Given the description of an element on the screen output the (x, y) to click on. 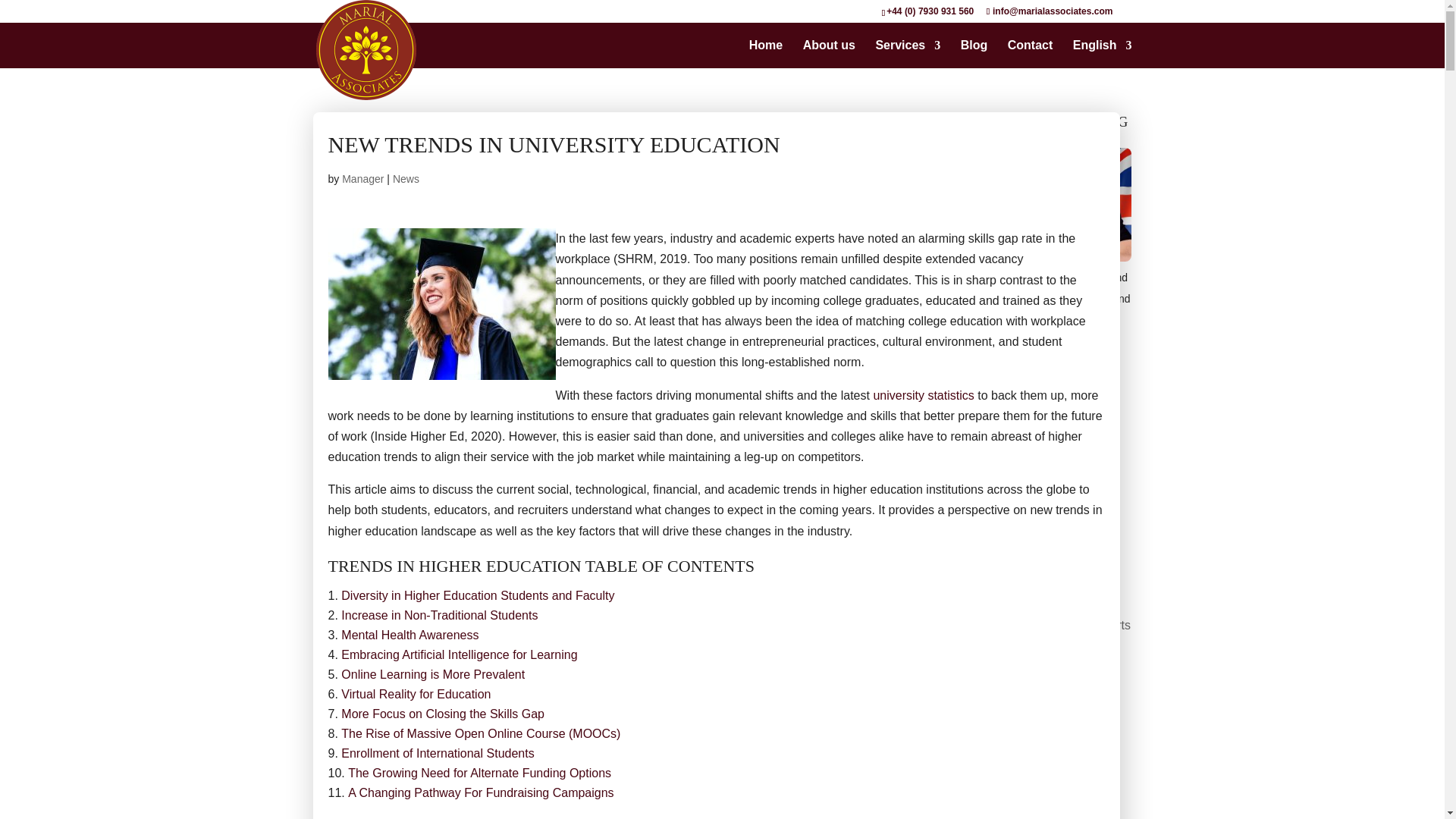
Virtual Reality for Education (415, 694)
Blog (974, 53)
Mental Health Awareness (409, 634)
Manager (363, 178)
Diversity in Higher Education Students and Faculty (477, 594)
Contact (1029, 53)
English (1102, 53)
Services (907, 53)
English (1102, 53)
More Focus on Closing the Skills Gap (442, 713)
